Given the description of an element on the screen output the (x, y) to click on. 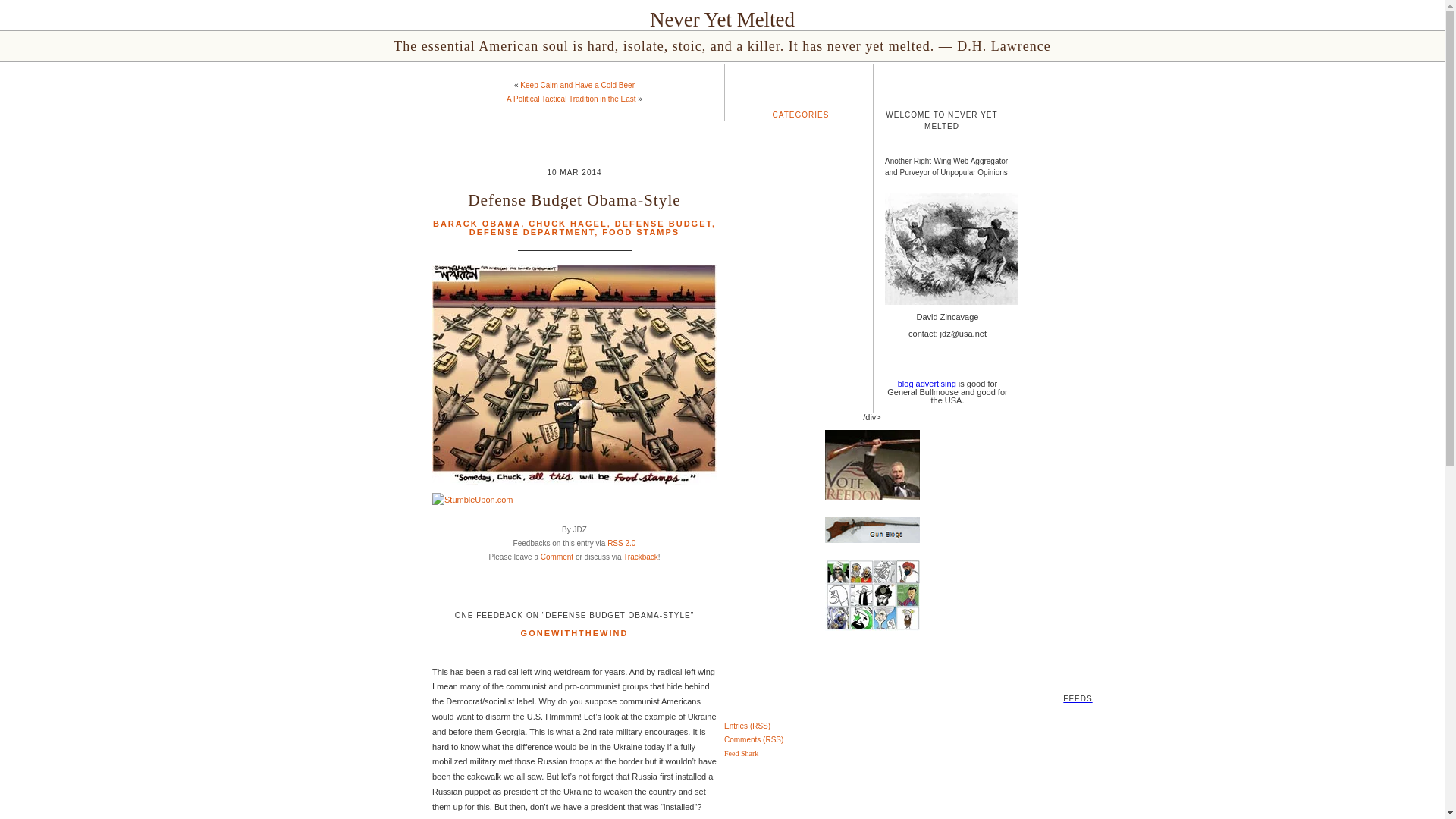
Defense Budget Obama-Style (574, 199)
A Political Tactical Tradition in the East (570, 99)
Never Yet Melted (721, 19)
BARACK OBAMA (476, 223)
CHUCK HAGEL (567, 223)
RSS 2.0 (620, 542)
Comment (556, 556)
blog advertising (927, 383)
Keep Calm and Have a Cold Beer (576, 85)
DEFENSE BUDGET (662, 223)
